Given the description of an element on the screen output the (x, y) to click on. 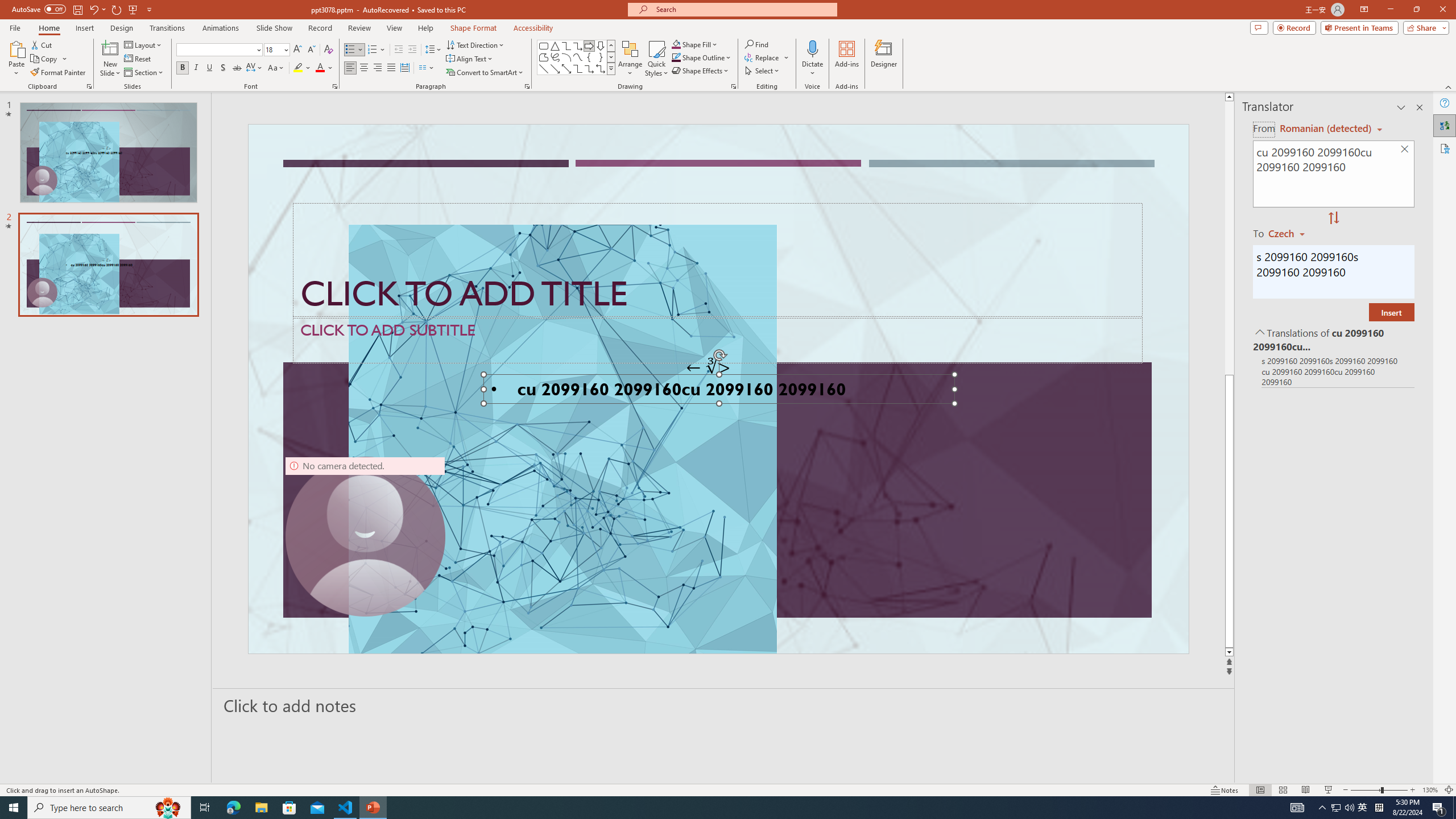
Zoom 130% (1430, 790)
TextBox 61 (716, 391)
